Given the description of an element on the screen output the (x, y) to click on. 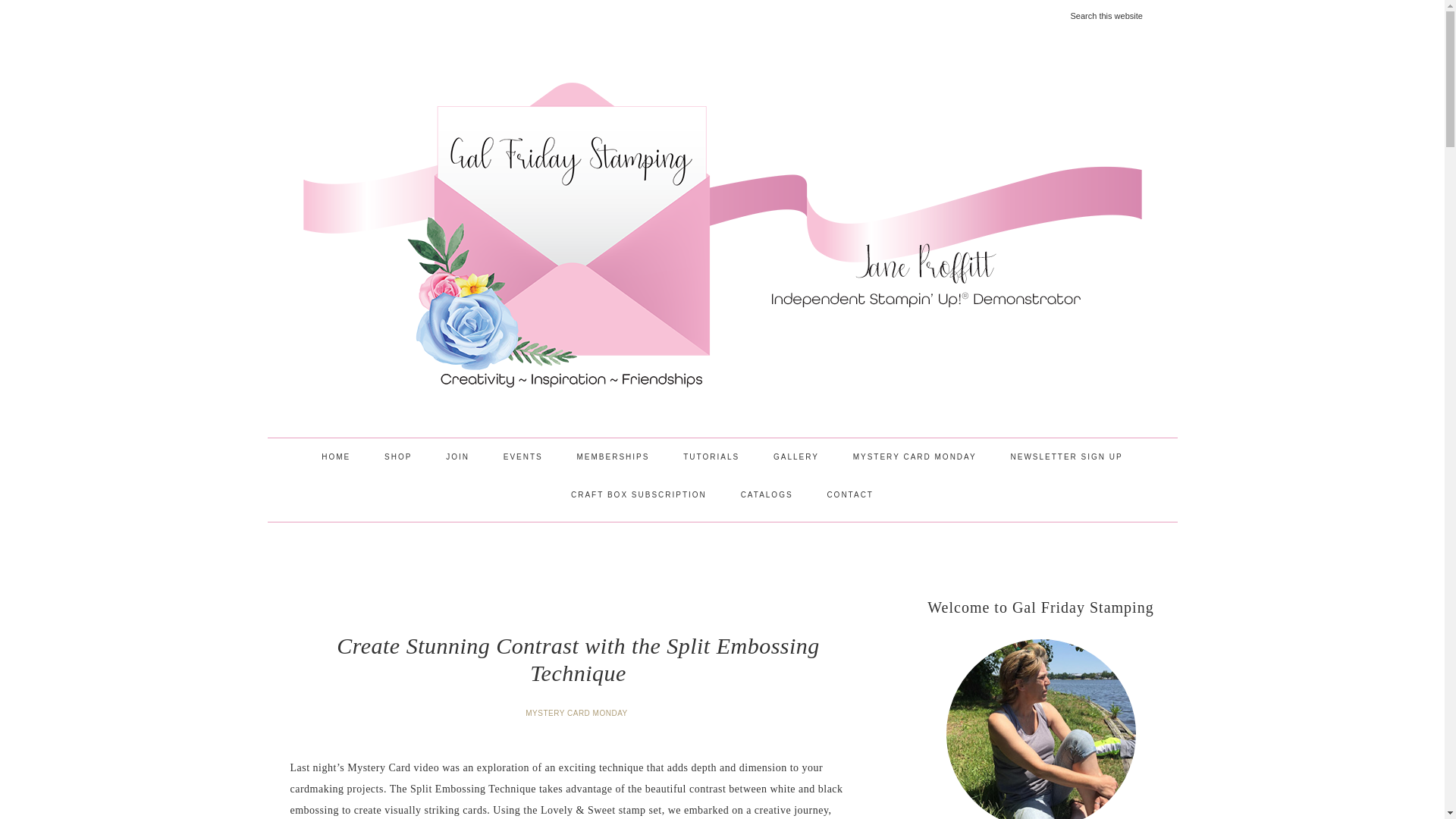
SHOP (397, 456)
MEMBERSHIPS (613, 456)
GALLERY (796, 456)
CONTACT (849, 494)
HOME (335, 456)
NEWSLETTER SIGN UP (1065, 456)
MYSTERY CARD MONDAY (914, 456)
MYSTERY CARD MONDAY (577, 713)
CATALOGS (766, 494)
